Given the description of an element on the screen output the (x, y) to click on. 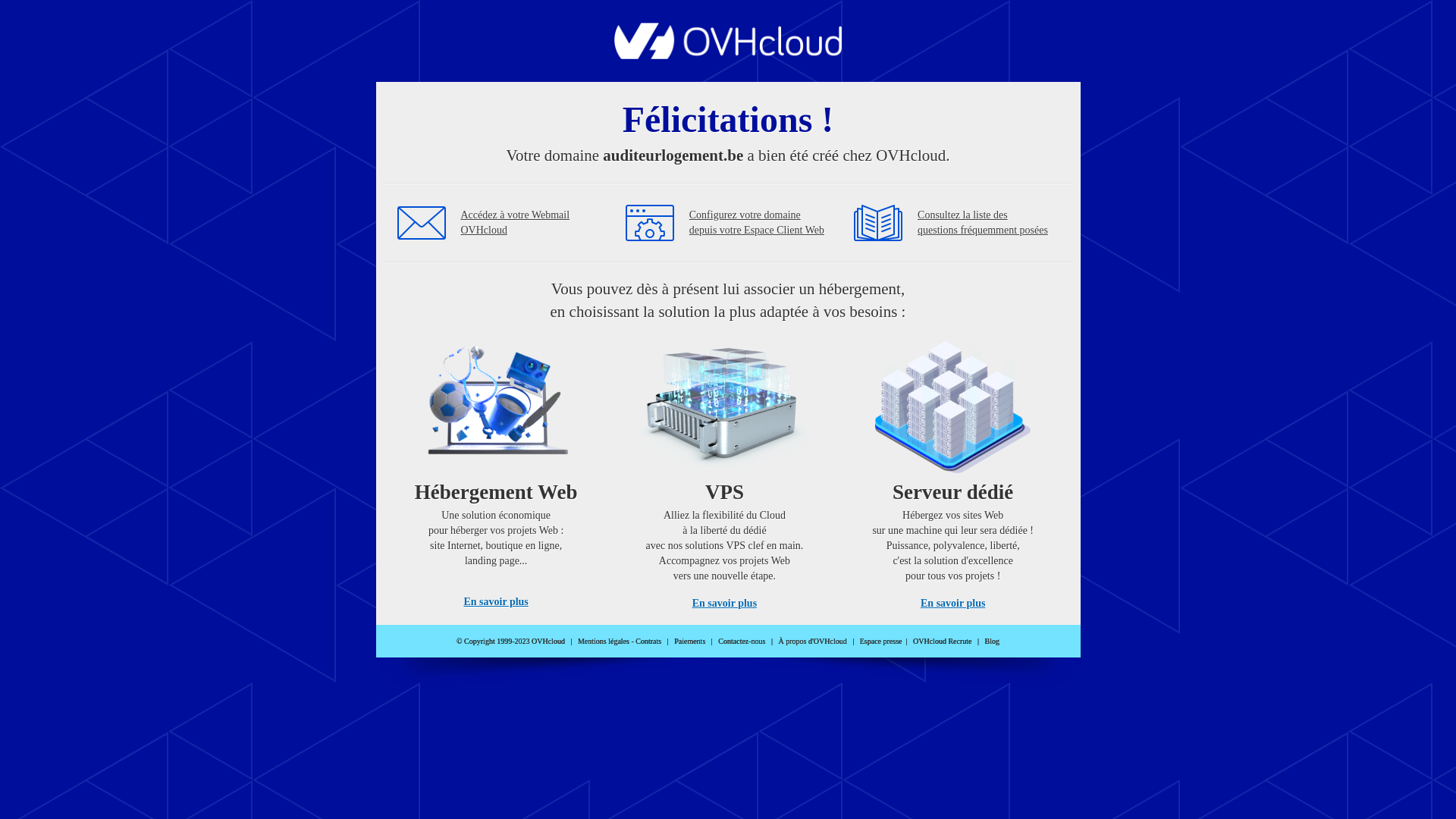
VPS Element type: hover (724, 469)
OVHcloud Element type: hover (727, 54)
Blog Element type: text (992, 641)
Configurez votre domaine
depuis votre Espace Client Web Element type: text (756, 222)
OVHcloud Recrute Element type: text (942, 641)
Paiements Element type: text (689, 641)
En savoir plus Element type: text (952, 602)
En savoir plus Element type: text (724, 602)
Contactez-nous Element type: text (741, 641)
Espace presse Element type: text (880, 641)
En savoir plus Element type: text (495, 601)
